Given the description of an element on the screen output the (x, y) to click on. 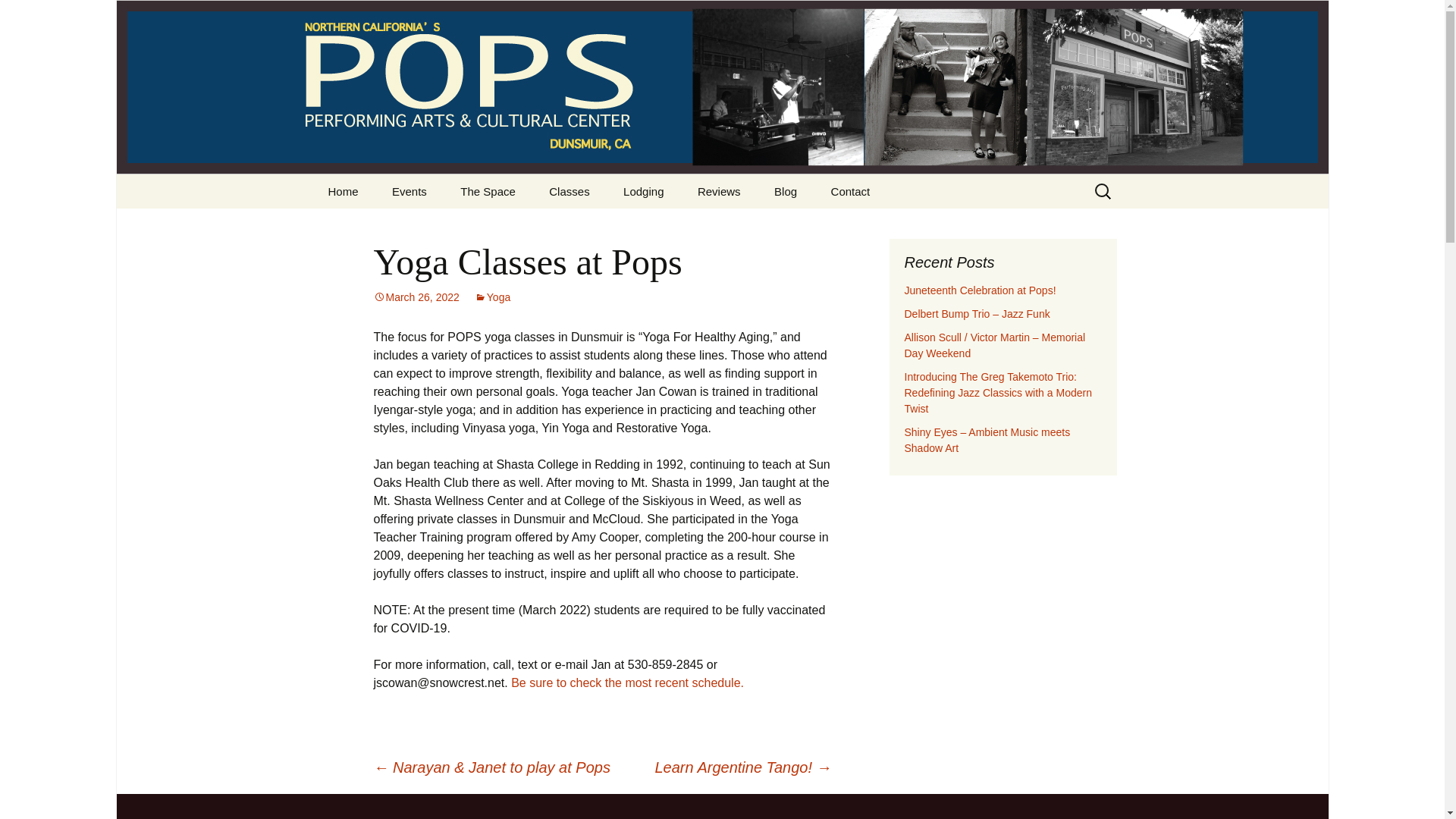
March 26, 2022 (415, 297)
Yoga (492, 297)
Contact (850, 191)
Search (18, 15)
Reviews (718, 191)
The Space (488, 191)
Home (342, 191)
Permalink to Yoga Classes at Pops (415, 297)
Events (409, 191)
Lodging (643, 191)
Classes (569, 191)
Be sure to check the most recent schedule. (627, 682)
Past Events (452, 225)
